Given the description of an element on the screen output the (x, y) to click on. 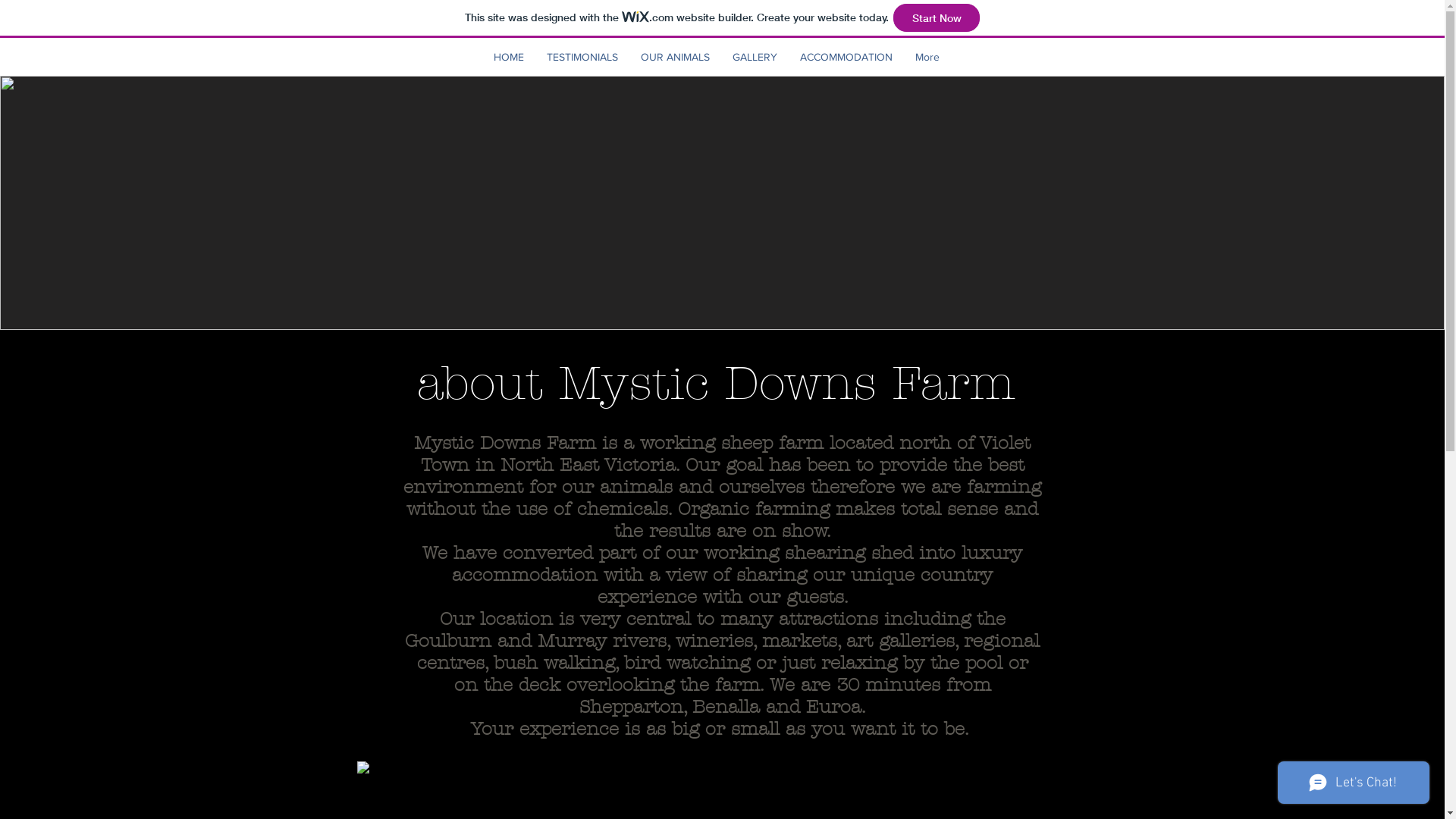
OUR ANIMALS Element type: text (675, 56)
ACCOMMODATION Element type: text (845, 56)
TESTIMONIALS Element type: text (582, 56)
HOME Element type: text (508, 56)
GALLERY Element type: text (753, 56)
